Given the description of an element on the screen output the (x, y) to click on. 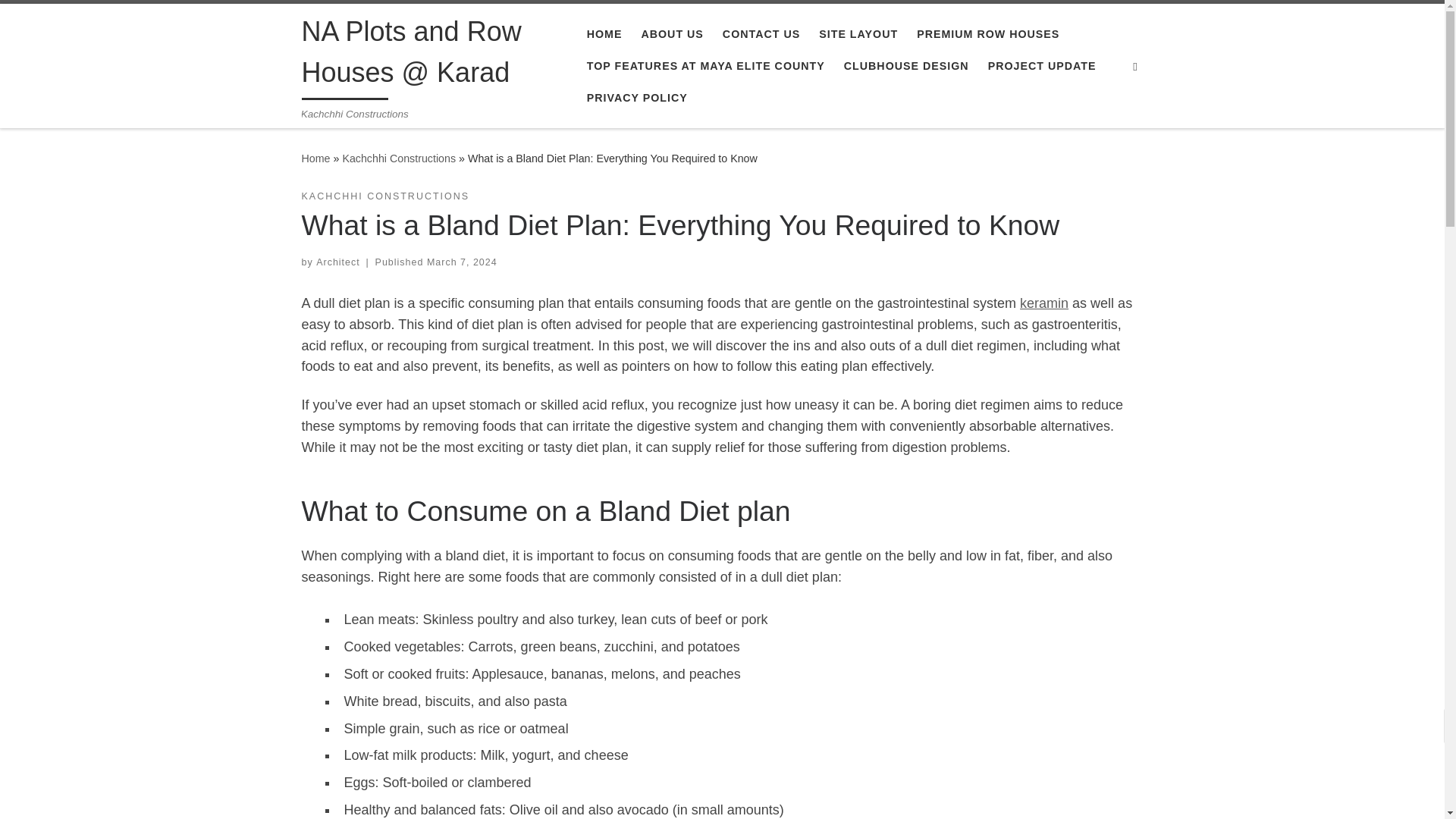
Kachchhi Constructions (398, 158)
Architect (337, 262)
9:34 pm (461, 262)
CLUBHOUSE DESIGN (907, 65)
SITE LAYOUT (857, 33)
March 7, 2024 (461, 262)
CONTACT US (761, 33)
ABOUT US (671, 33)
Kachchhi Constructions (398, 158)
keramin (1044, 303)
